Given the description of an element on the screen output the (x, y) to click on. 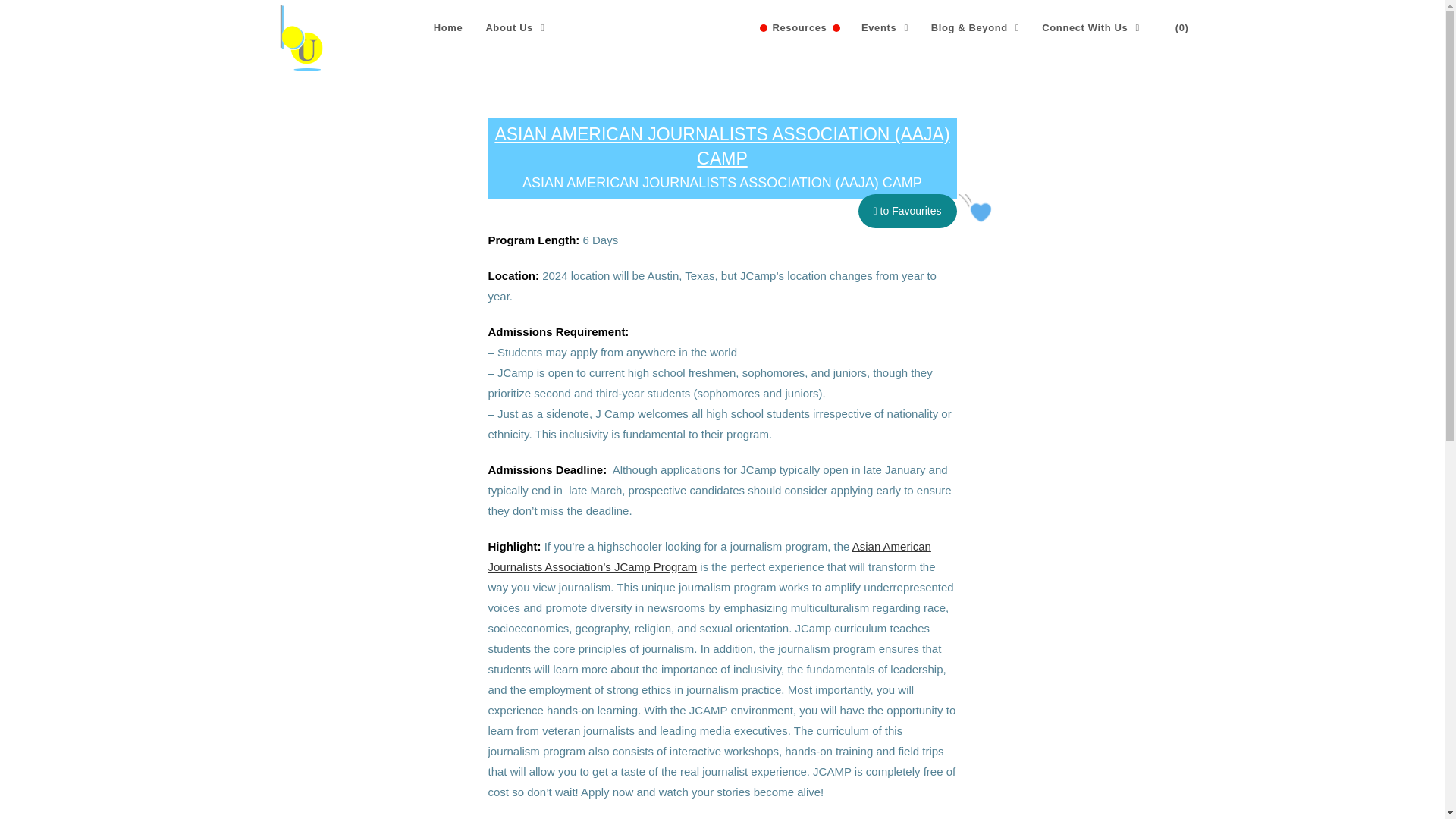
About Us (515, 28)
Events (885, 28)
Resources (805, 28)
Home (448, 28)
to Favourites (907, 211)
Connect With Us (1090, 28)
